Given the description of an element on the screen output the (x, y) to click on. 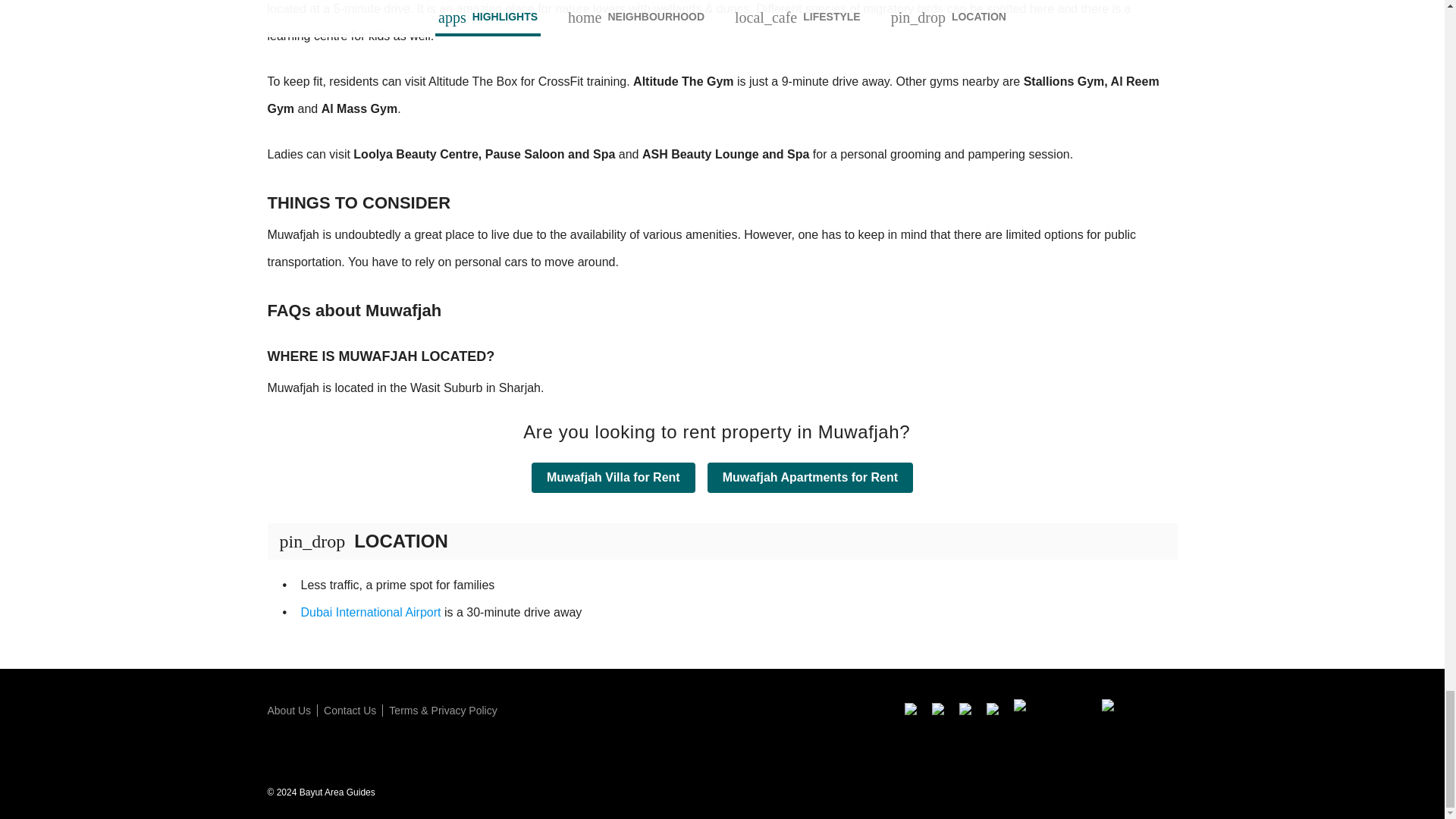
WHERE IS MUWAFJAH LOCATED? (721, 337)
THINGS TO CONSIDER (721, 184)
FAQs about Muwafjah (721, 292)
